Given the description of an element on the screen output the (x, y) to click on. 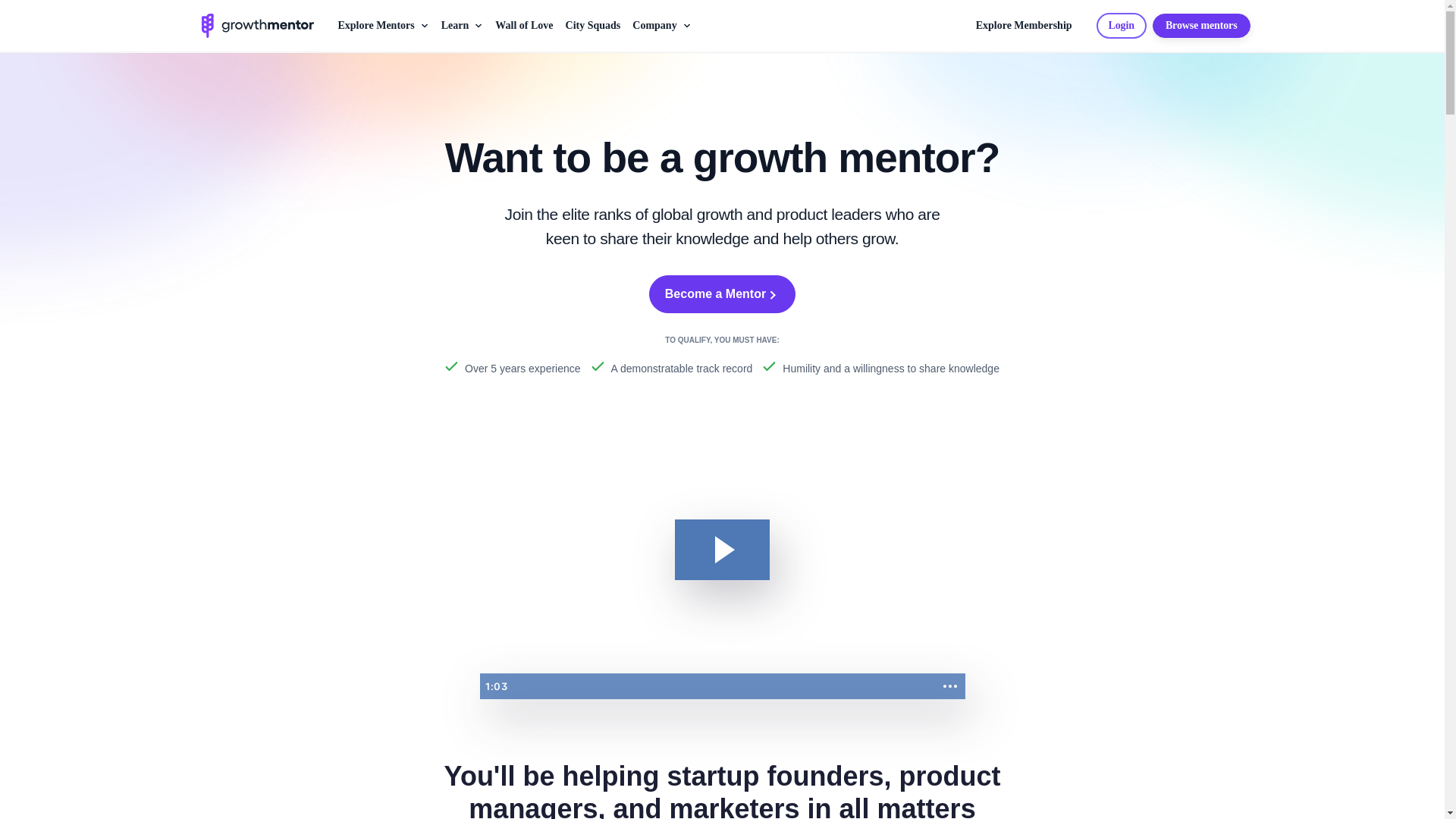
Show more buttons (948, 686)
